Given the description of an element on the screen output the (x, y) to click on. 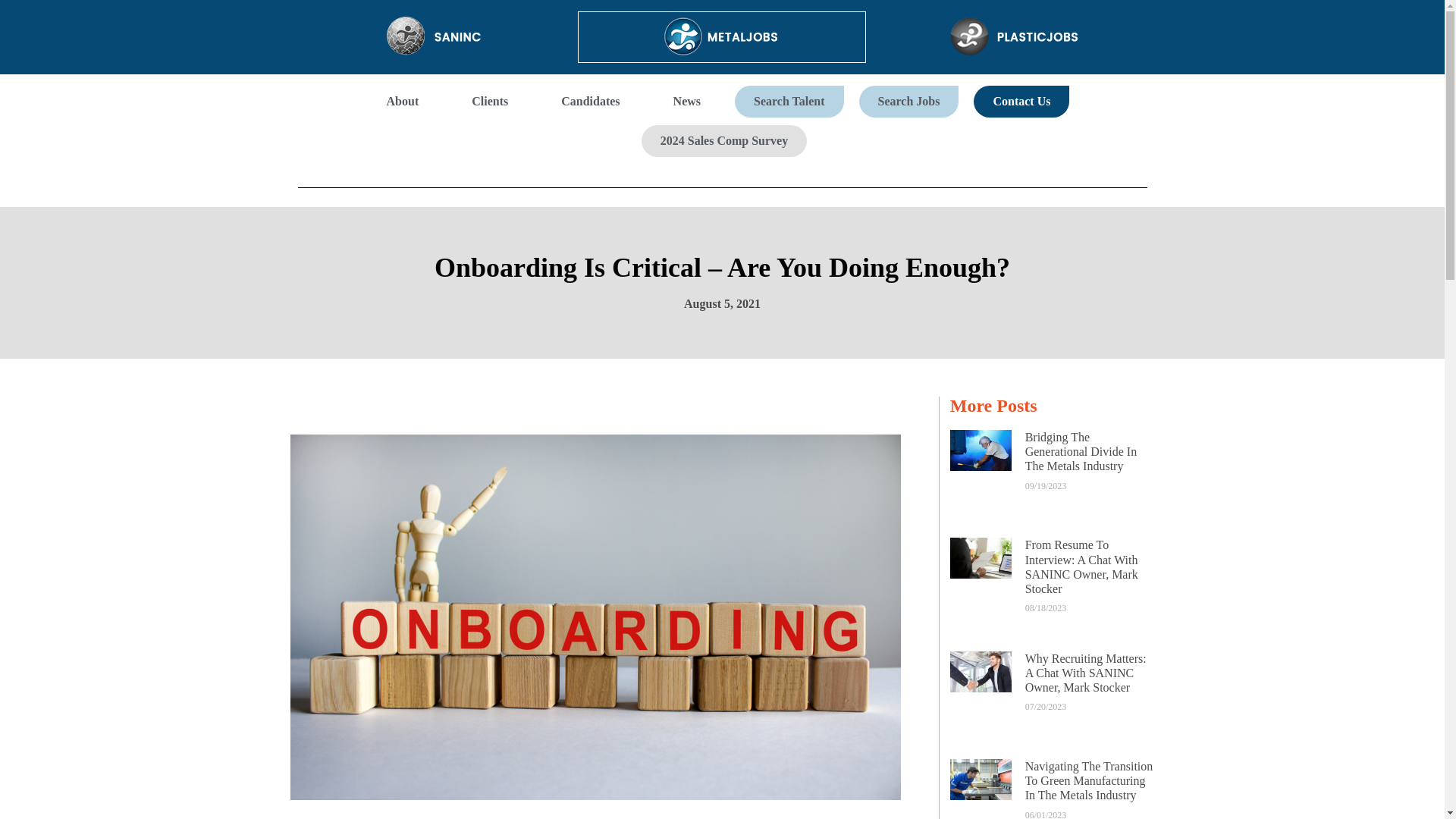
About (403, 101)
Contact Us (1021, 101)
Search Jobs (909, 101)
2024 Sales Comp Survey (724, 141)
Candidates (590, 101)
Clients (489, 101)
Search Talent (789, 101)
News (686, 101)
